Given the description of an element on the screen output the (x, y) to click on. 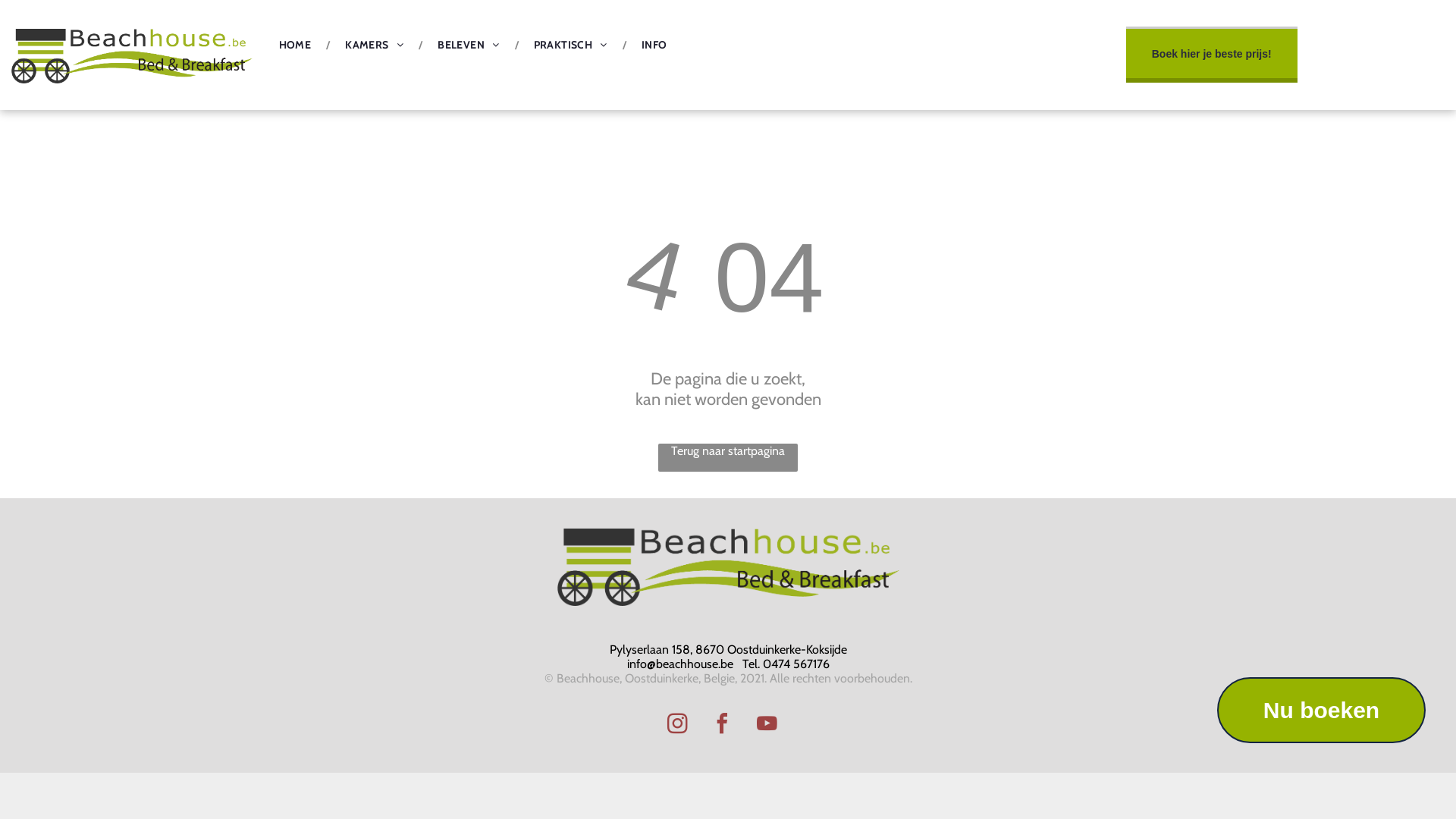
Nu boeken Element type: text (1321, 710)
INFO Element type: text (654, 44)
Boek hier je beste prijs! Element type: text (1211, 55)
PRAKTISCH Element type: text (570, 44)
BELEVEN Element type: text (468, 44)
HOME Element type: text (294, 44)
Terug naar startpagina Element type: text (727, 457)
KAMERS Element type: text (373, 44)
